Given the description of an element on the screen output the (x, y) to click on. 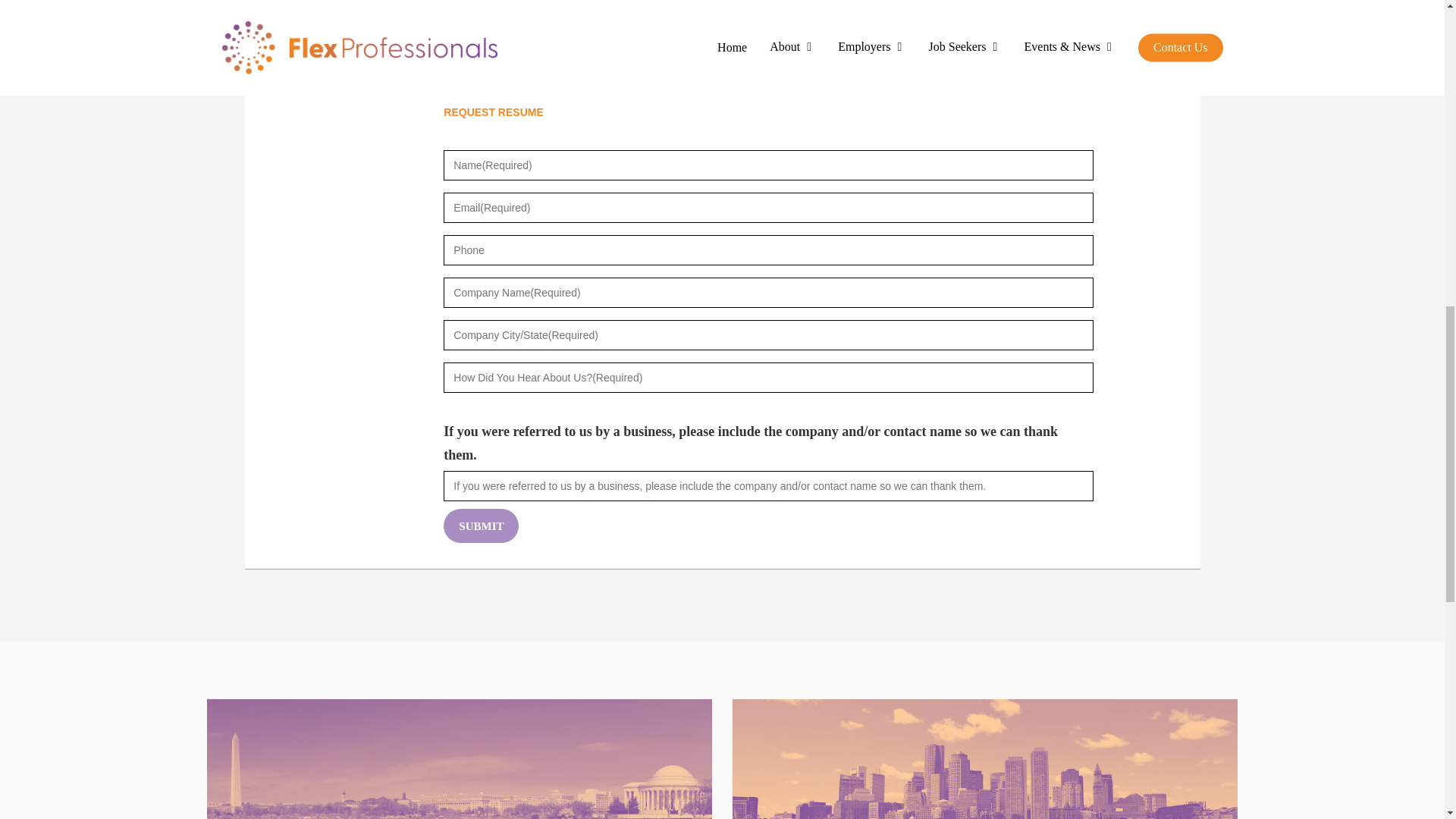
Submit (481, 525)
